Given the description of an element on the screen output the (x, y) to click on. 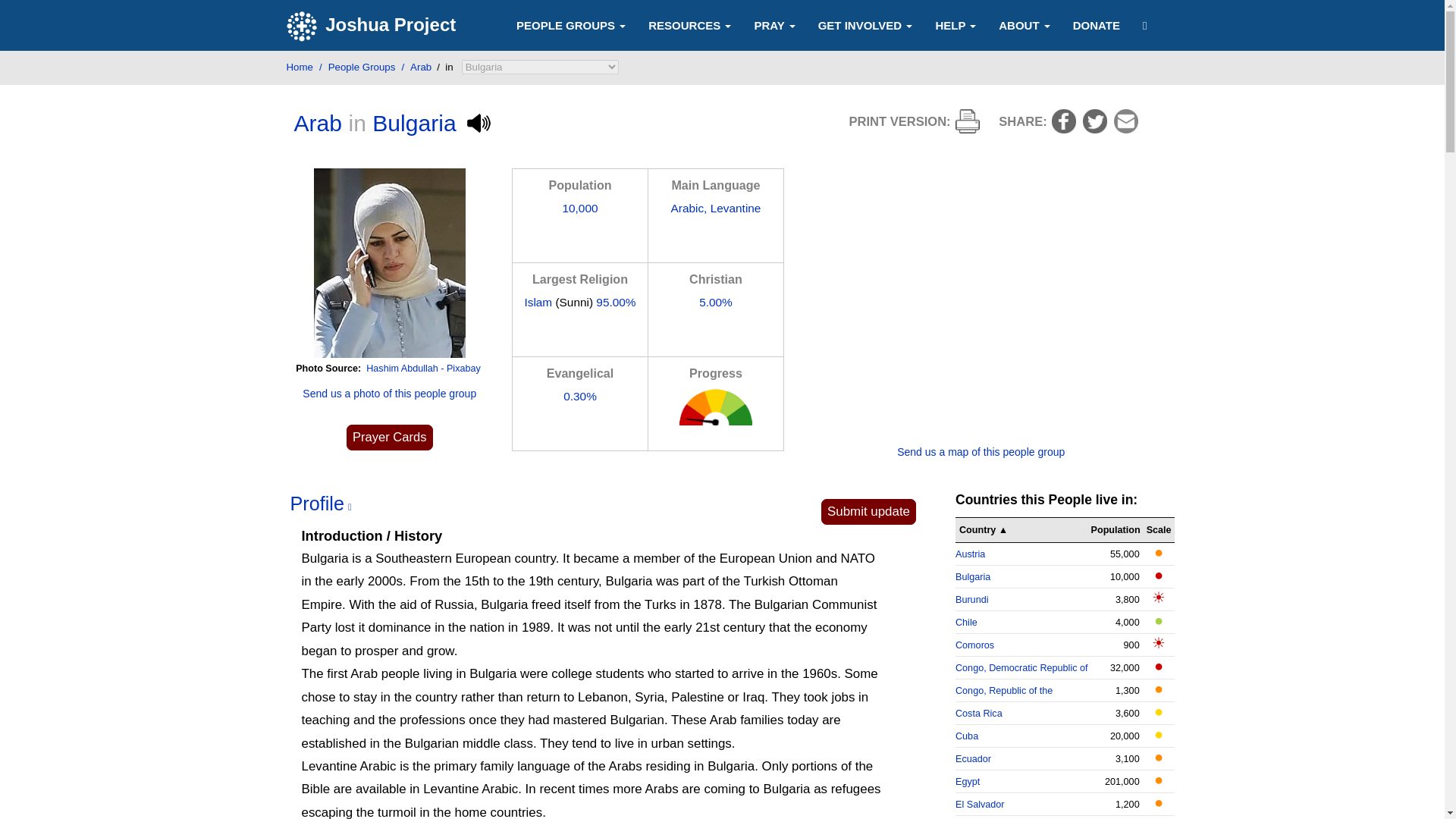
RESOURCES (689, 24)
Joshua Project (373, 25)
PEOPLE GROUPS (571, 24)
